Given the description of an element on the screen output the (x, y) to click on. 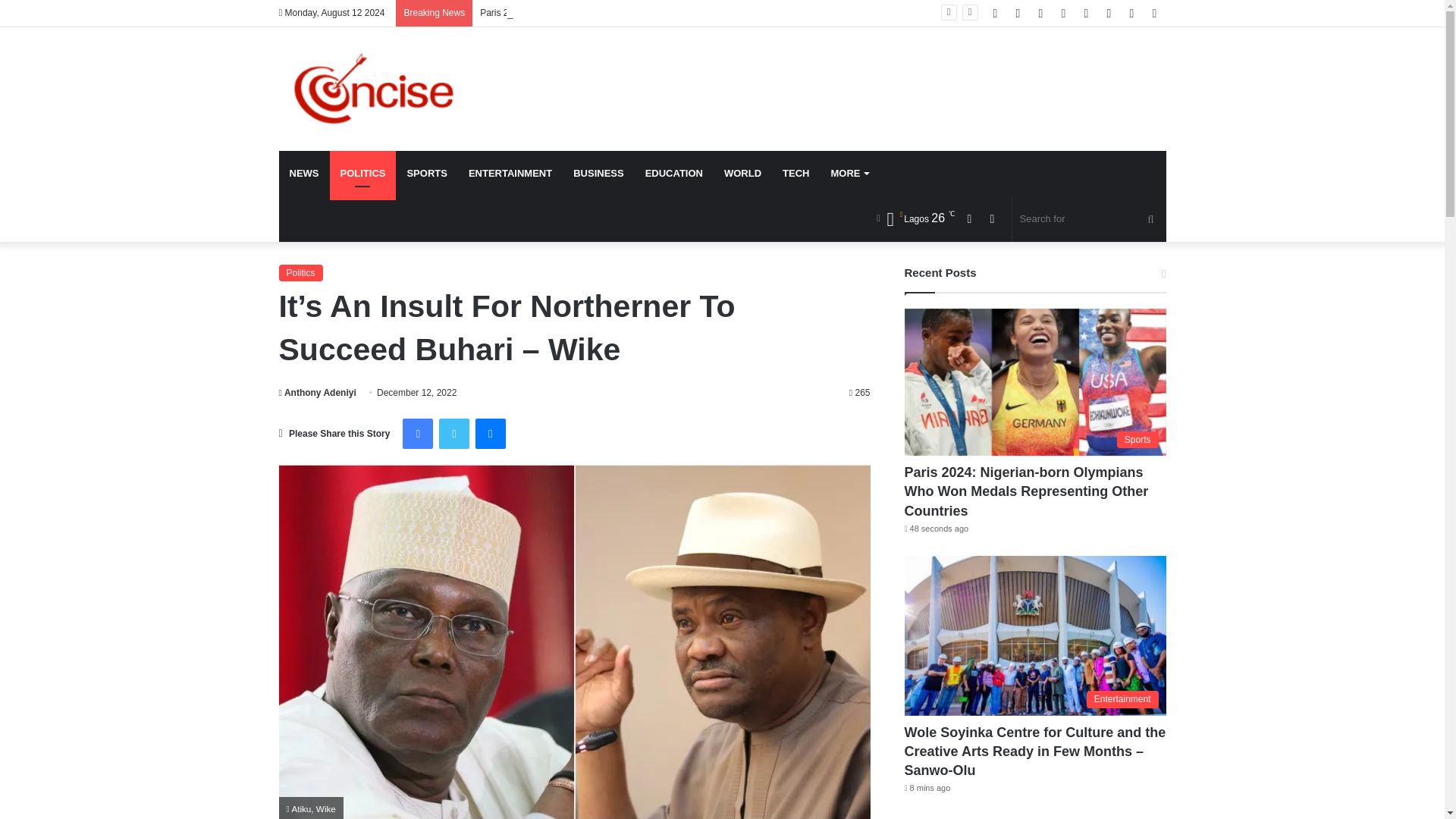
NEWS (304, 173)
SPORTS (426, 173)
MORE (849, 173)
ENTERTAINMENT (510, 173)
WORLD (742, 173)
Search for (1088, 218)
Anthony Adeniyi (317, 392)
Facebook (417, 433)
Concise News (385, 88)
Twitter (453, 433)
